Given the description of an element on the screen output the (x, y) to click on. 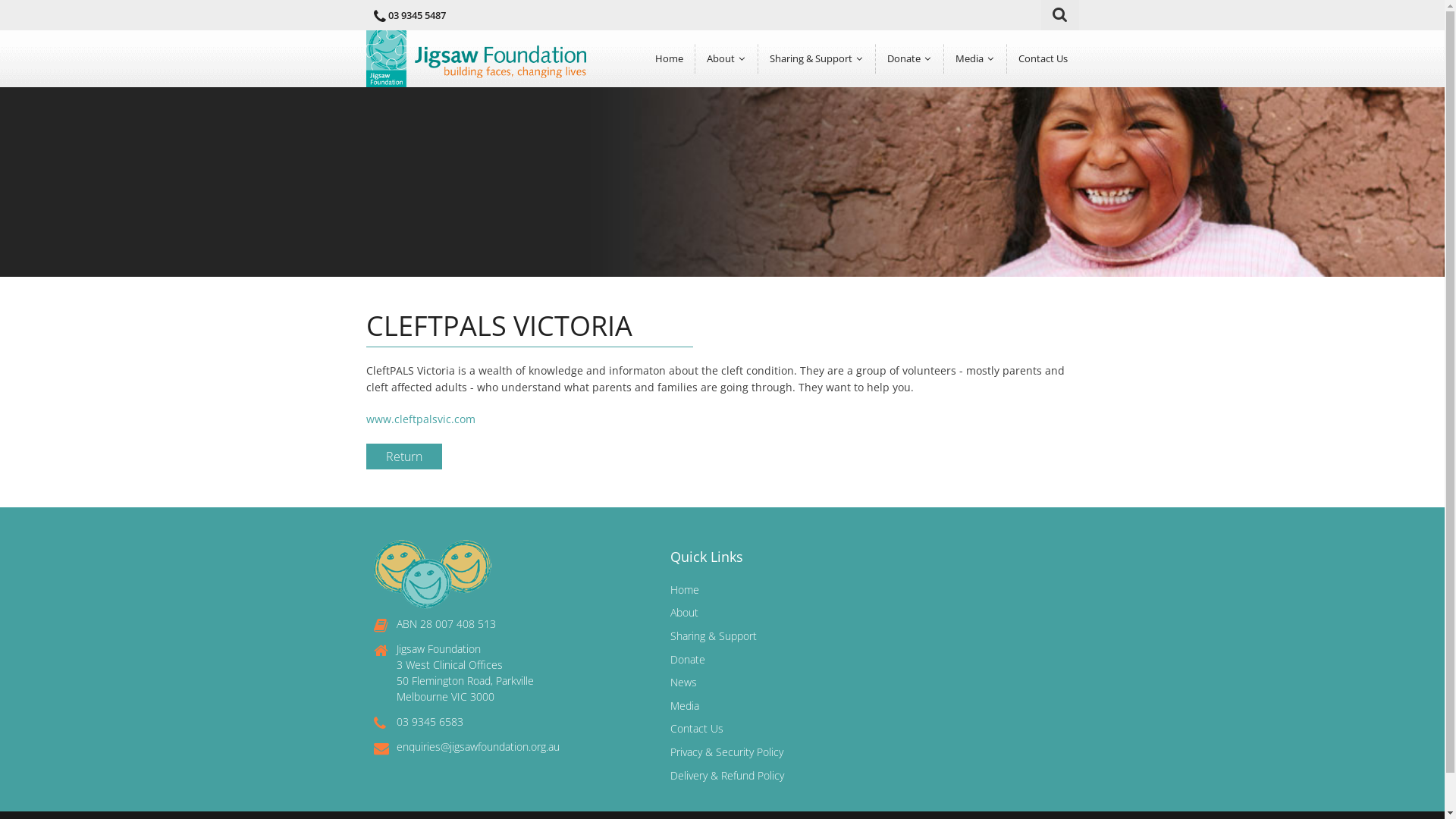
Media Element type: text (684, 705)
Media Element type: text (974, 58)
enquiries@jigsawfoundation.org.au Element type: text (476, 746)
Medical Information Element type: text (832, 130)
Privacy & Security Policy Element type: text (726, 751)
Sharing & Support Element type: text (713, 635)
Links Element type: text (832, 187)
Home Element type: text (684, 589)
03 9345 6583 Element type: text (428, 721)
Donate Element type: text (687, 659)
News Element type: text (683, 681)
Home Element type: text (668, 58)
Sharing & Support Element type: text (816, 58)
Search Element type: text (1063, 15)
Privacy & Refund Policy Element type: text (950, 158)
Contact Us Element type: text (1043, 58)
Donate Online Element type: text (950, 101)
Corporate Governance Element type: text (770, 158)
About Element type: text (684, 612)
Who We Are Element type: text (770, 101)
Contact Us Element type: text (696, 728)
About Element type: text (725, 58)
Our People Element type: text (770, 130)
Donate Element type: text (908, 58)
Videos Element type: text (1019, 130)
www.cleftpalsvic.com Element type: text (419, 418)
Return Element type: text (403, 456)
Family & Patient Support Element type: text (832, 101)
Donation Form Element type: text (950, 130)
Delivery & Refund Policy Element type: text (727, 775)
News Element type: text (1019, 101)
03 9345 5487 Element type: text (416, 14)
Case Studies Element type: text (832, 158)
